Given the description of an element on the screen output the (x, y) to click on. 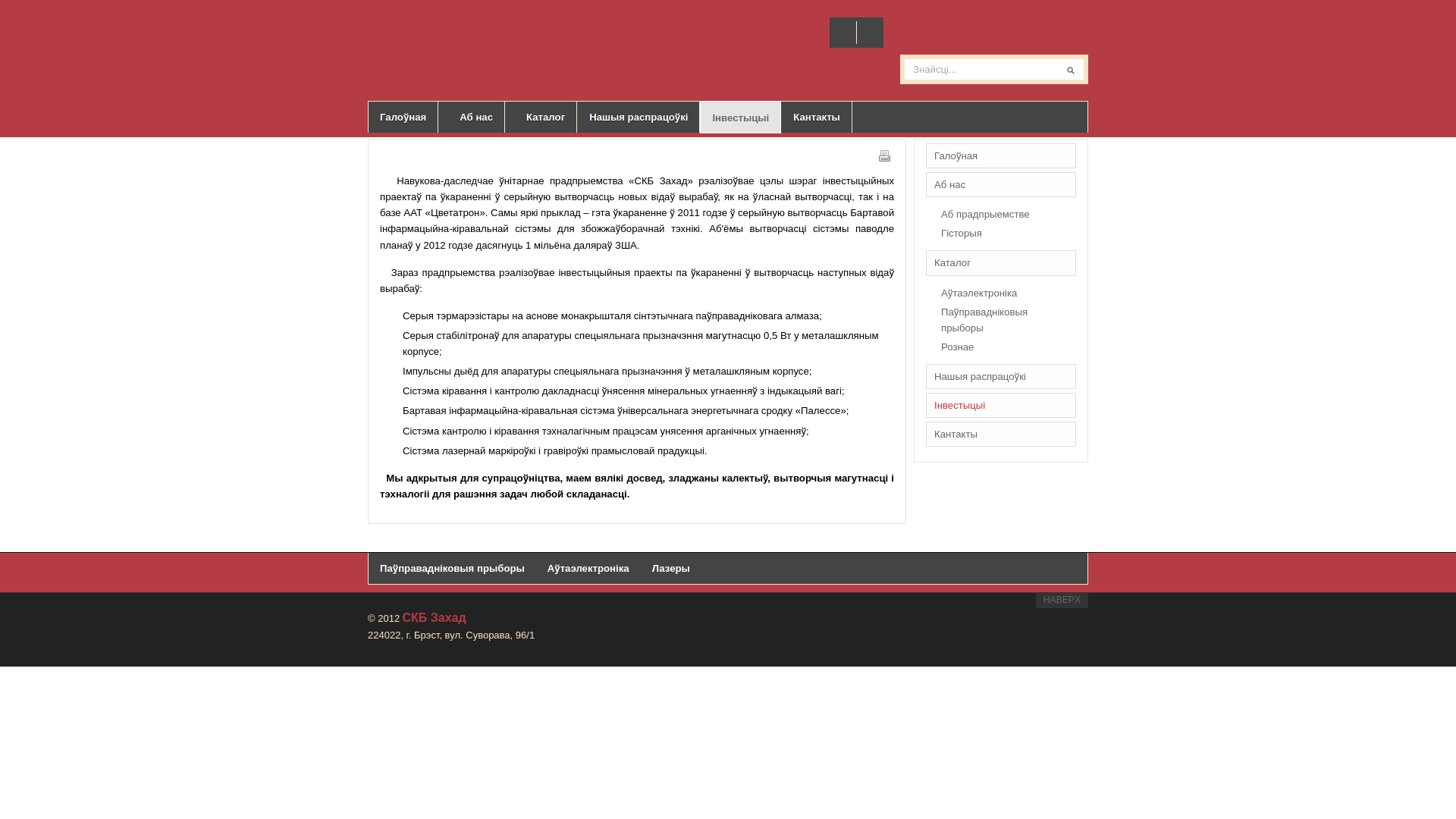
skbwest Element type: hover (425, 47)
eng Element type: text (867, 32)
HABEPX Element type: text (1061, 599)
ru Element type: text (844, 32)
